Given the description of an element on the screen output the (x, y) to click on. 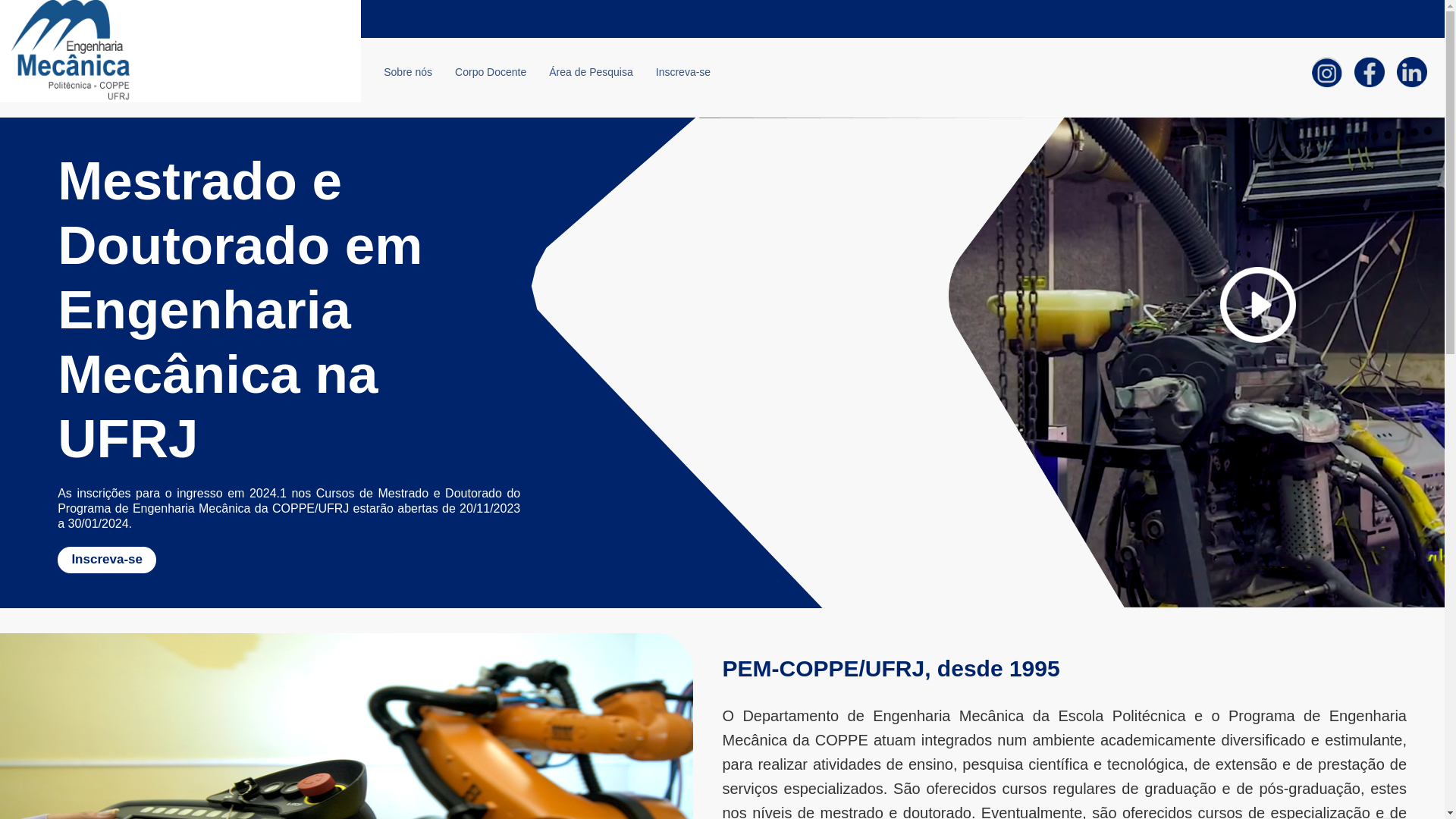
Inscreva-se Element type: text (682, 71)
Corpo Docente Element type: text (490, 71)
Inscreva-se Element type: text (288, 559)
